Given the description of an element on the screen output the (x, y) to click on. 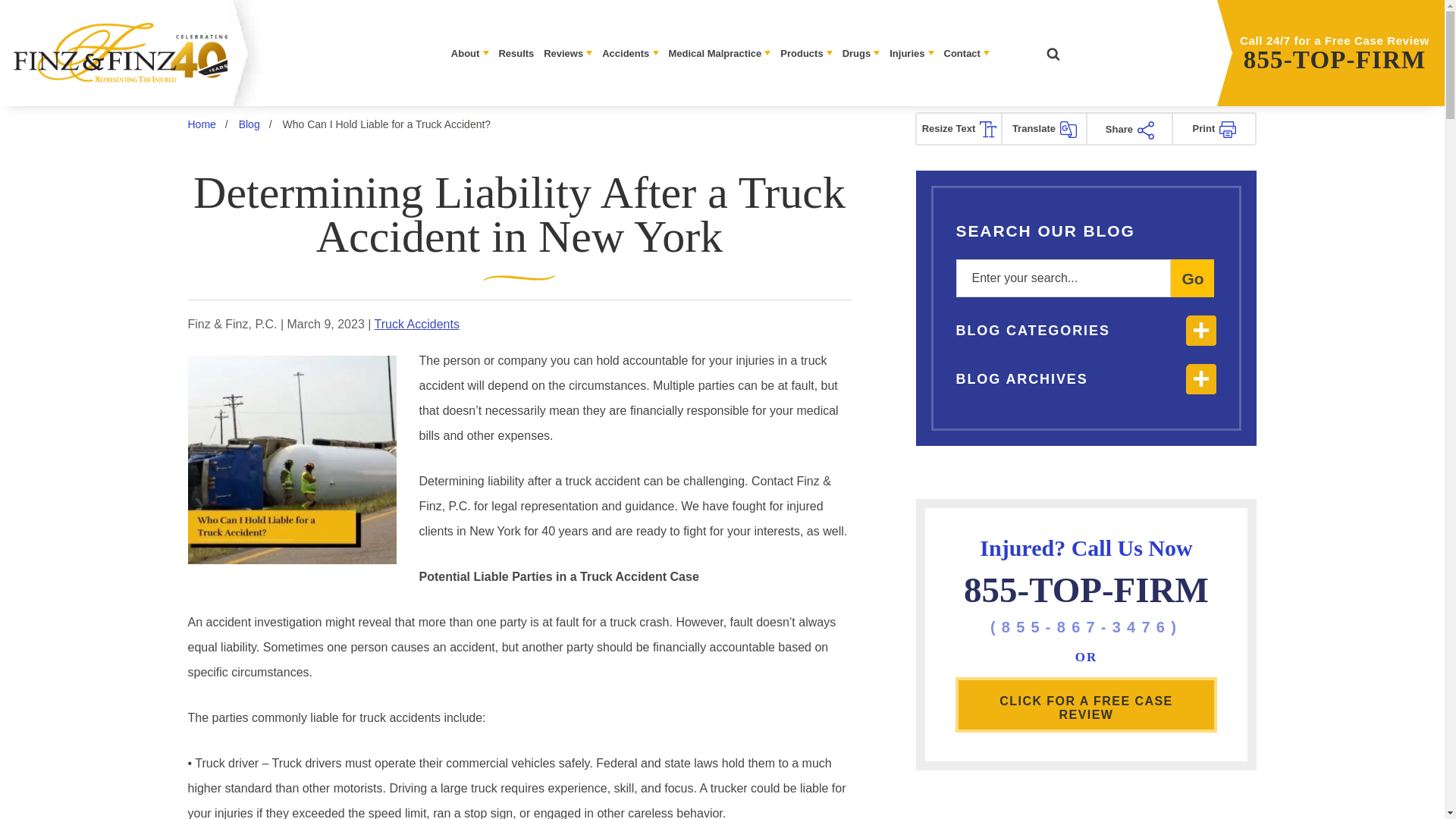
Go (1192, 278)
